Given the description of an element on the screen output the (x, y) to click on. 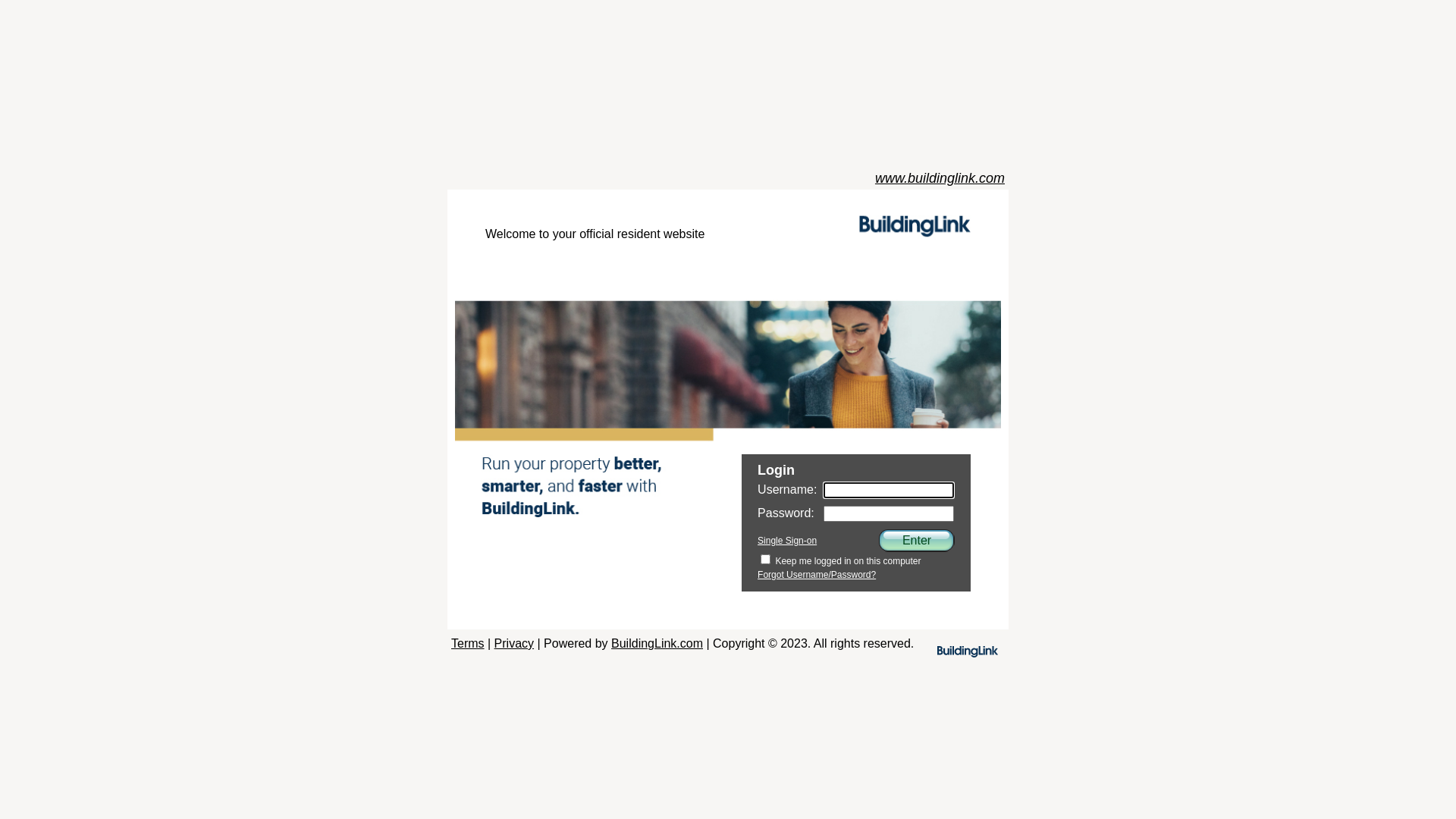
Single Sign-on Element type: text (786, 540)
Privacy Element type: text (513, 643)
Terms Element type: text (467, 643)
Enter Element type: text (916, 540)
Forgot Username/Password? Element type: text (816, 574)
BuildingLink.com Element type: text (656, 643)
www.buildinglink.com Element type: text (939, 178)
